Given the description of an element on the screen output the (x, y) to click on. 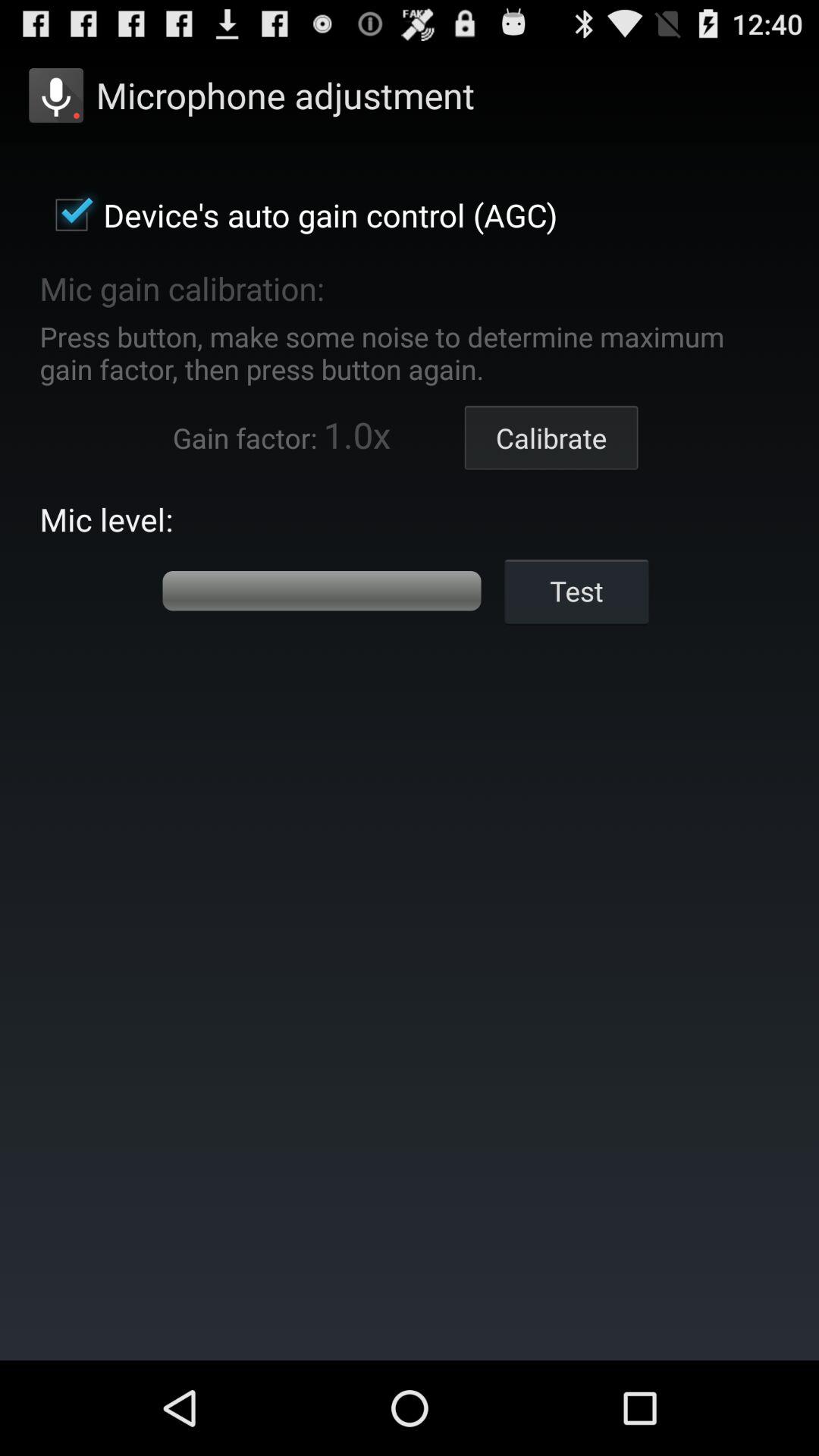
press icon to the right of the 1.0x app (551, 437)
